Given the description of an element on the screen output the (x, y) to click on. 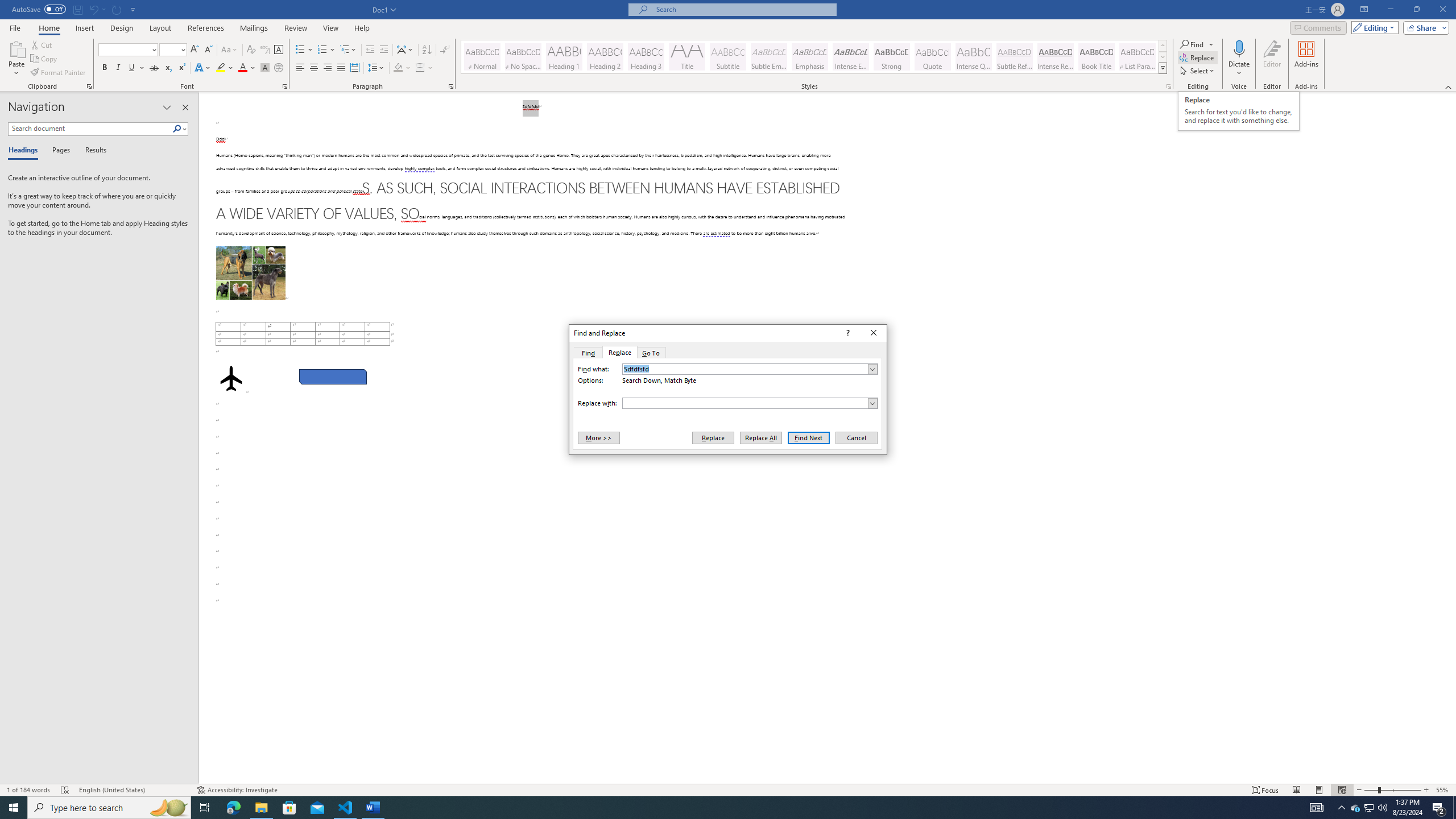
Heading 2 (605, 56)
Replace... (1197, 56)
Align Right (327, 67)
Undo Paragraph Alignment (96, 9)
Visual Studio Code - 1 running window (345, 807)
Replace with: (749, 402)
Book Title (1095, 56)
Font Color Red (241, 67)
